Given the description of an element on the screen output the (x, y) to click on. 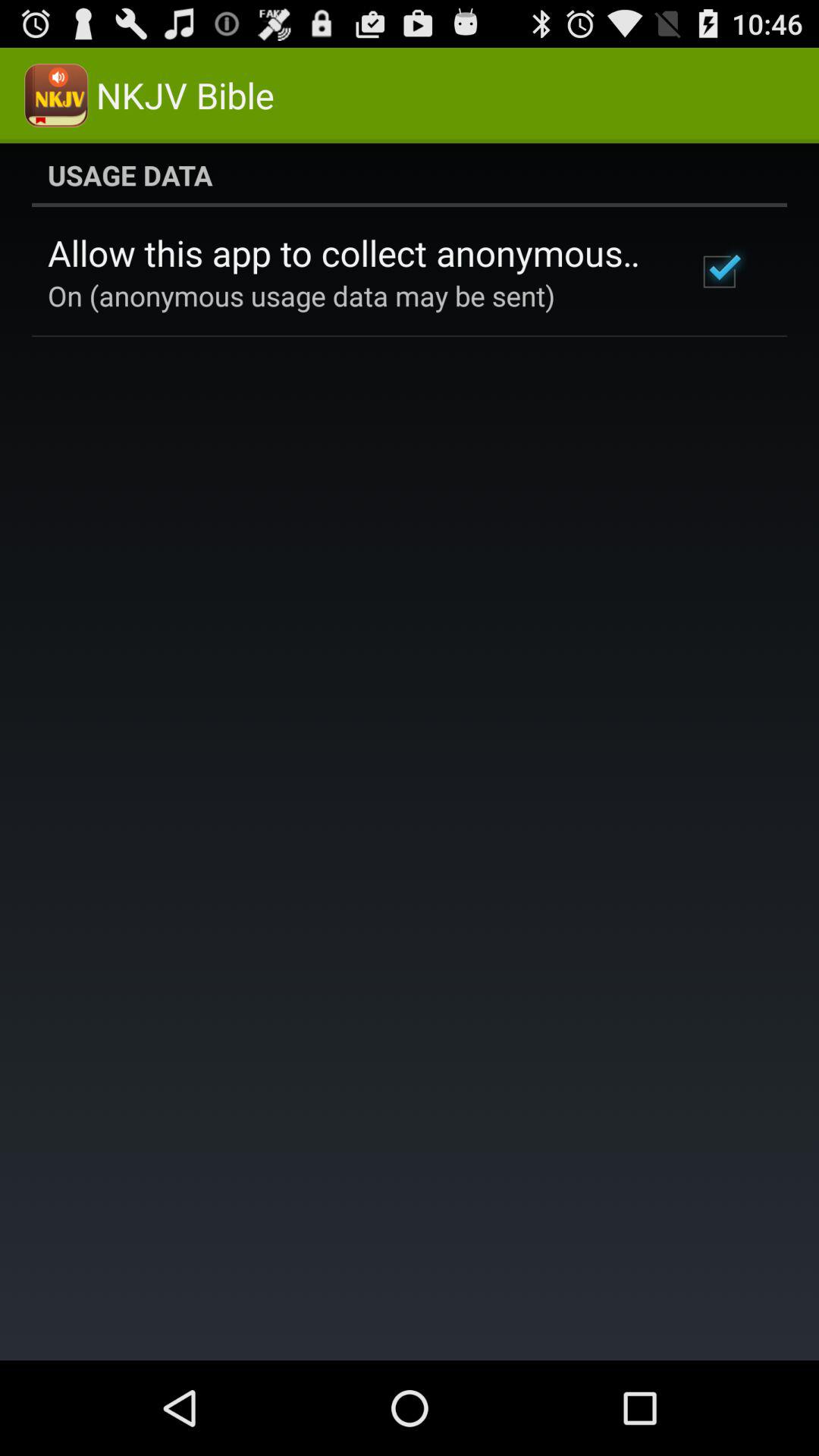
turn on item above on anonymous usage item (351, 252)
